Given the description of an element on the screen output the (x, y) to click on. 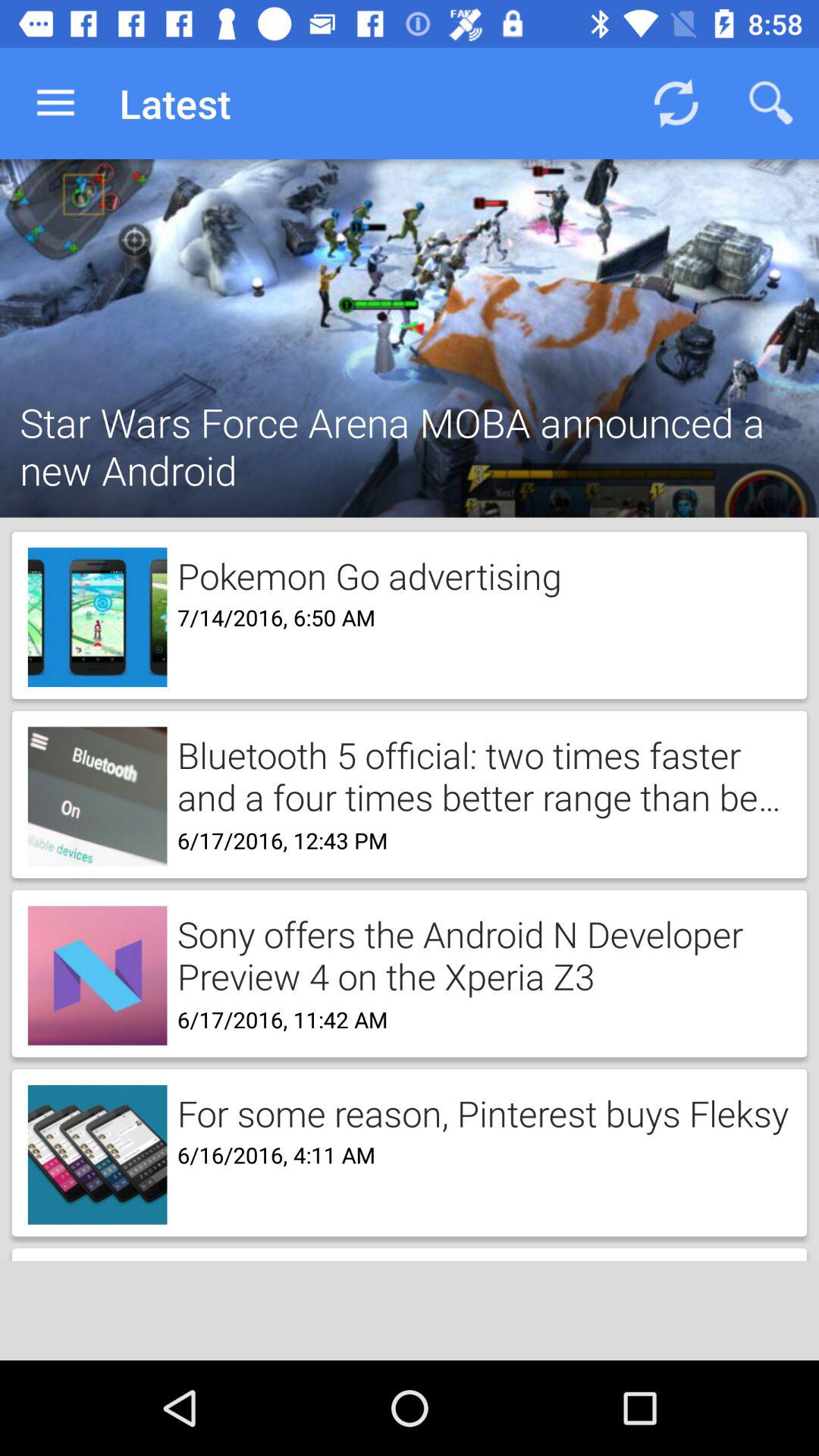
launch the 7 14 2016 (271, 616)
